Given the description of an element on the screen output the (x, y) to click on. 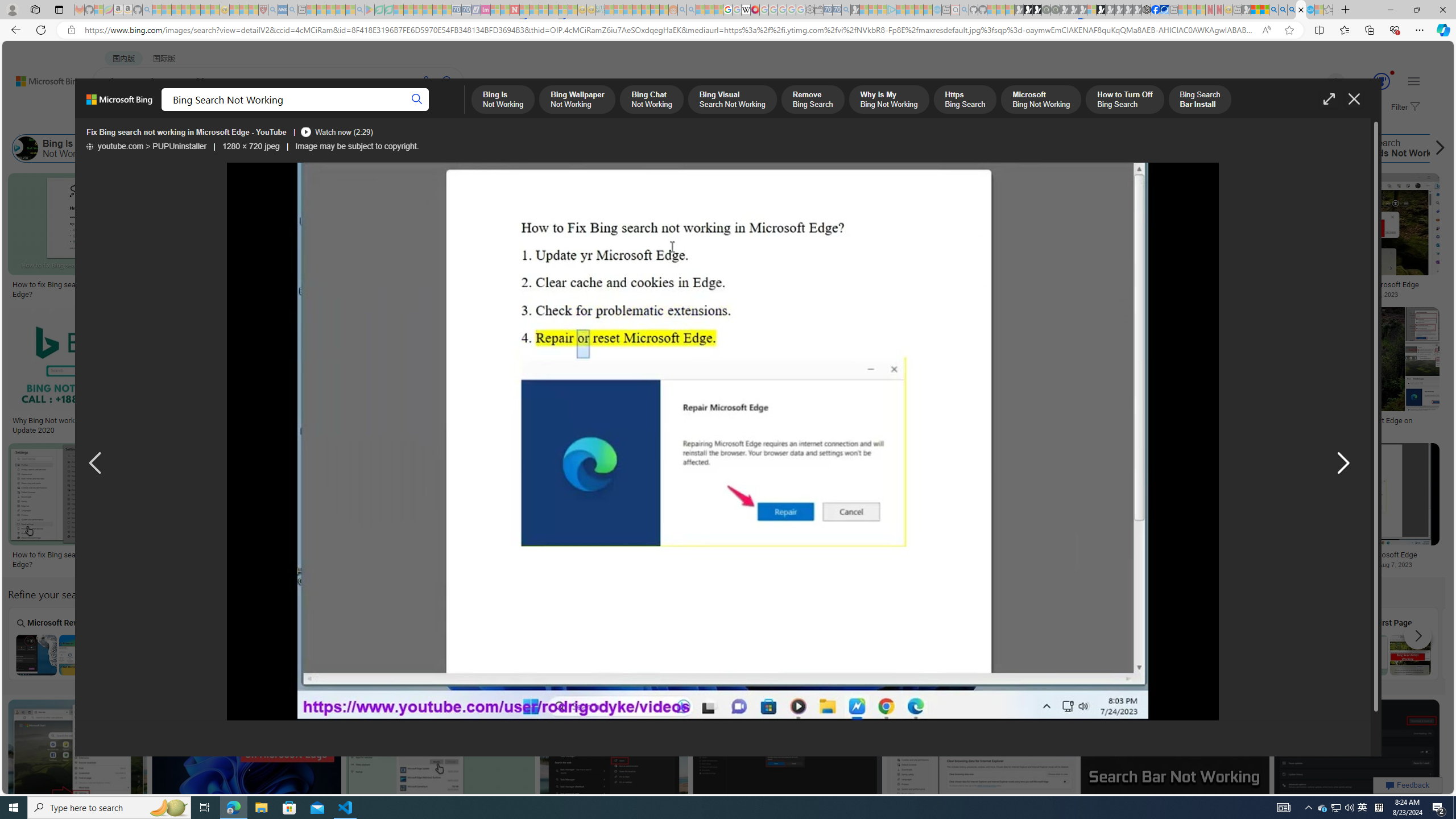
Bing Not Working Properly (1134, 148)
Bing Search Bar Not Working (1080, 655)
Fix Bing search not working in Microsoft Edge - YouTube (722, 441)
White Bing Cherries (804, 280)
Bing Search Rewards Not Working (1388, 148)
Bing Search Not Working Properly (569, 655)
Nordace - Cooler Bags (1146, 9)
